Given the description of an element on the screen output the (x, y) to click on. 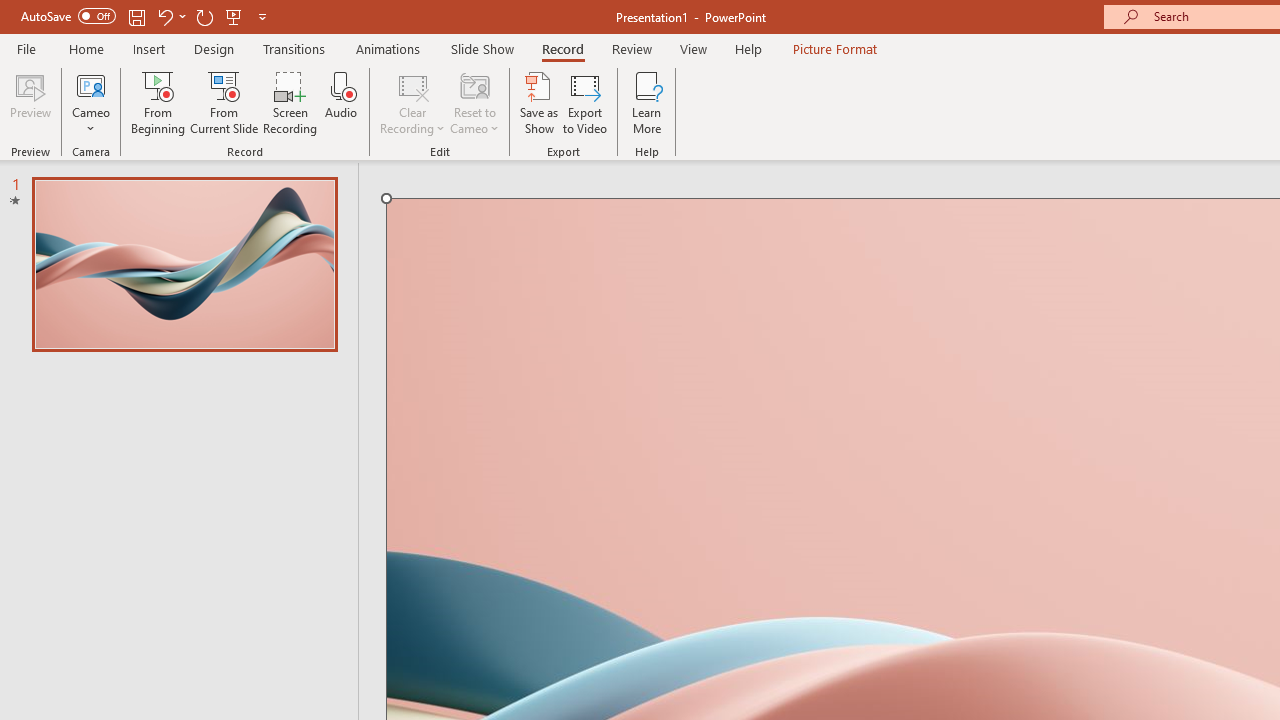
Record (562, 48)
Design (214, 48)
Customize Quick Access Toolbar (262, 15)
Reset to Cameo (474, 102)
Insert (149, 48)
Save as Show (539, 102)
Undo (164, 15)
Picture Format (834, 48)
System (10, 11)
Screen Recording (290, 102)
More Options (91, 121)
From Beginning... (158, 102)
Save (136, 15)
View (693, 48)
Redo (204, 15)
